Given the description of an element on the screen output the (x, y) to click on. 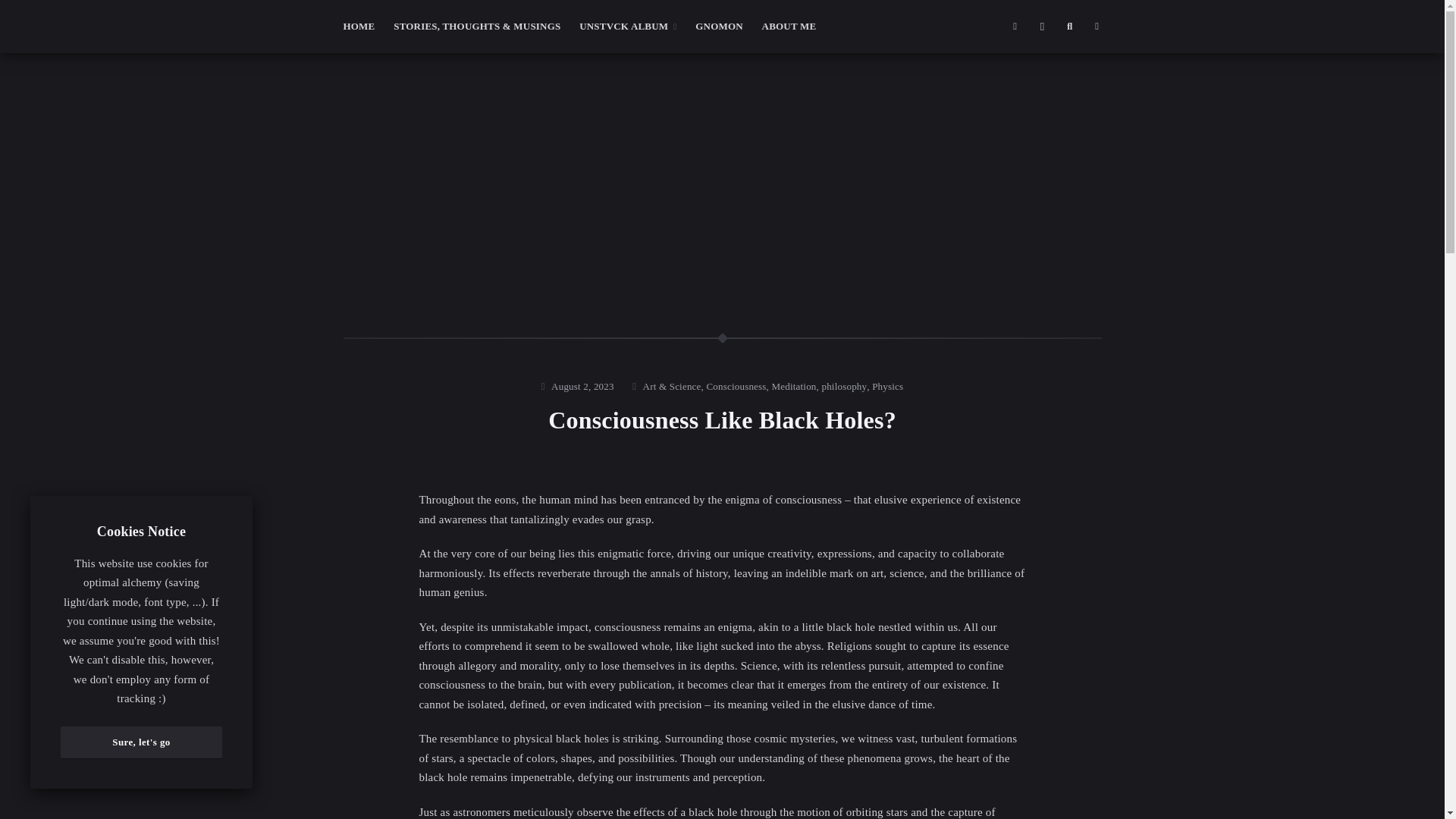
Consciousness (735, 386)
August 2, 2023 (582, 386)
UNSTVCK ALBUM (627, 26)
HOME (358, 26)
philosophy (843, 386)
Meditation (793, 386)
ABOUT ME (788, 26)
Physics (887, 386)
GNOMON (718, 26)
